Given the description of an element on the screen output the (x, y) to click on. 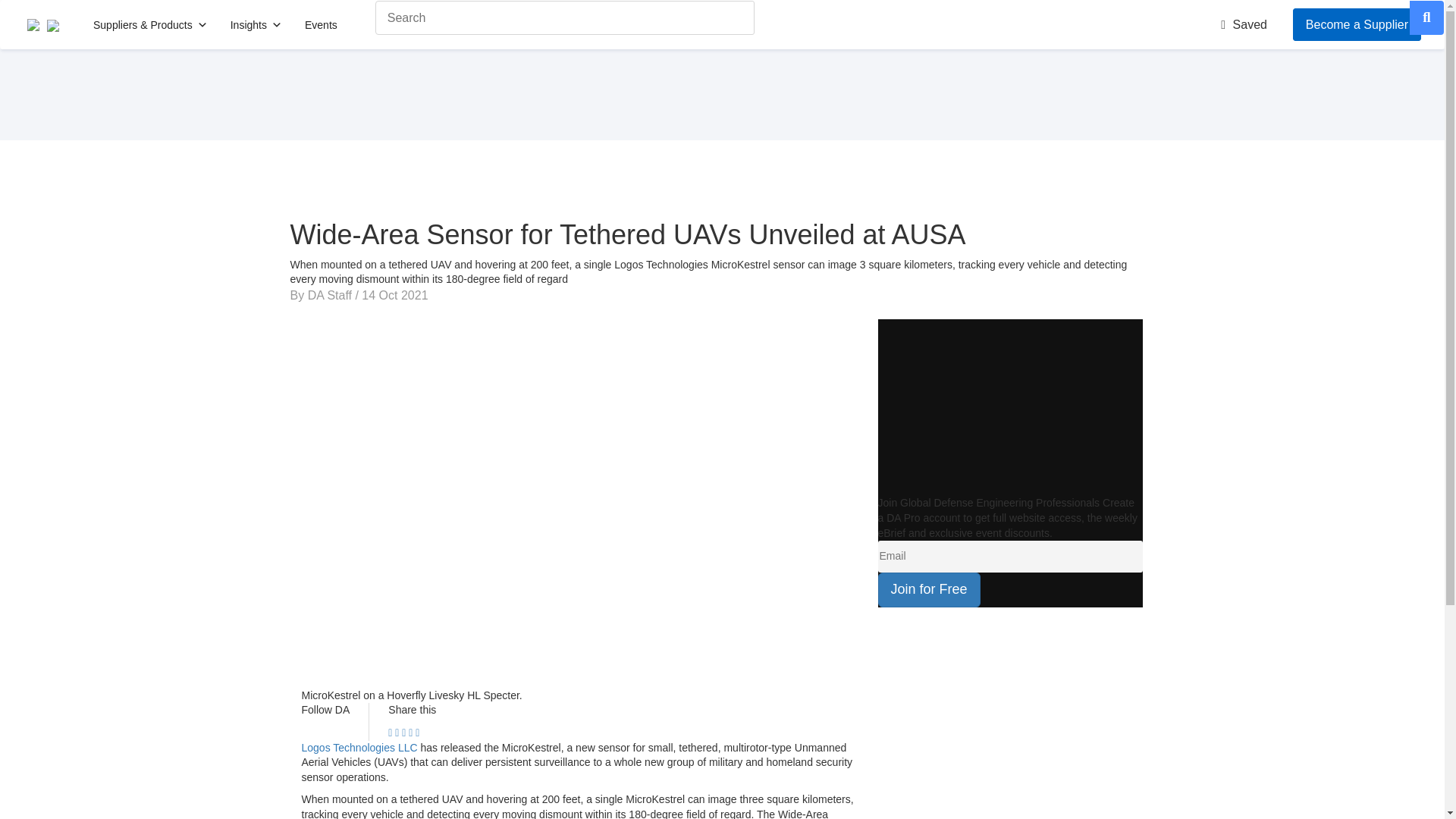
Saved (1243, 24)
Become a Supplier (1356, 24)
Events (321, 25)
Insights (255, 25)
